Given the description of an element on the screen output the (x, y) to click on. 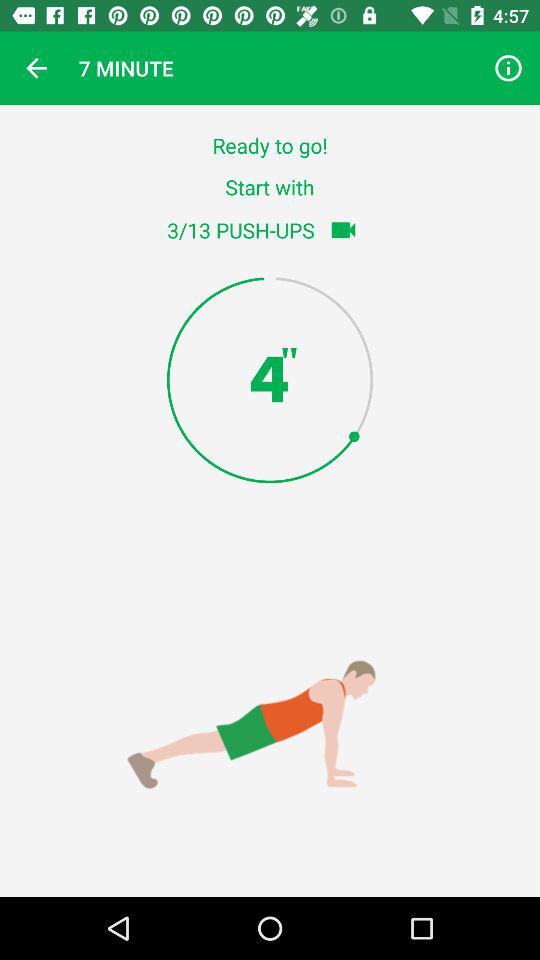
watch video of workout (343, 230)
